Given the description of an element on the screen output the (x, y) to click on. 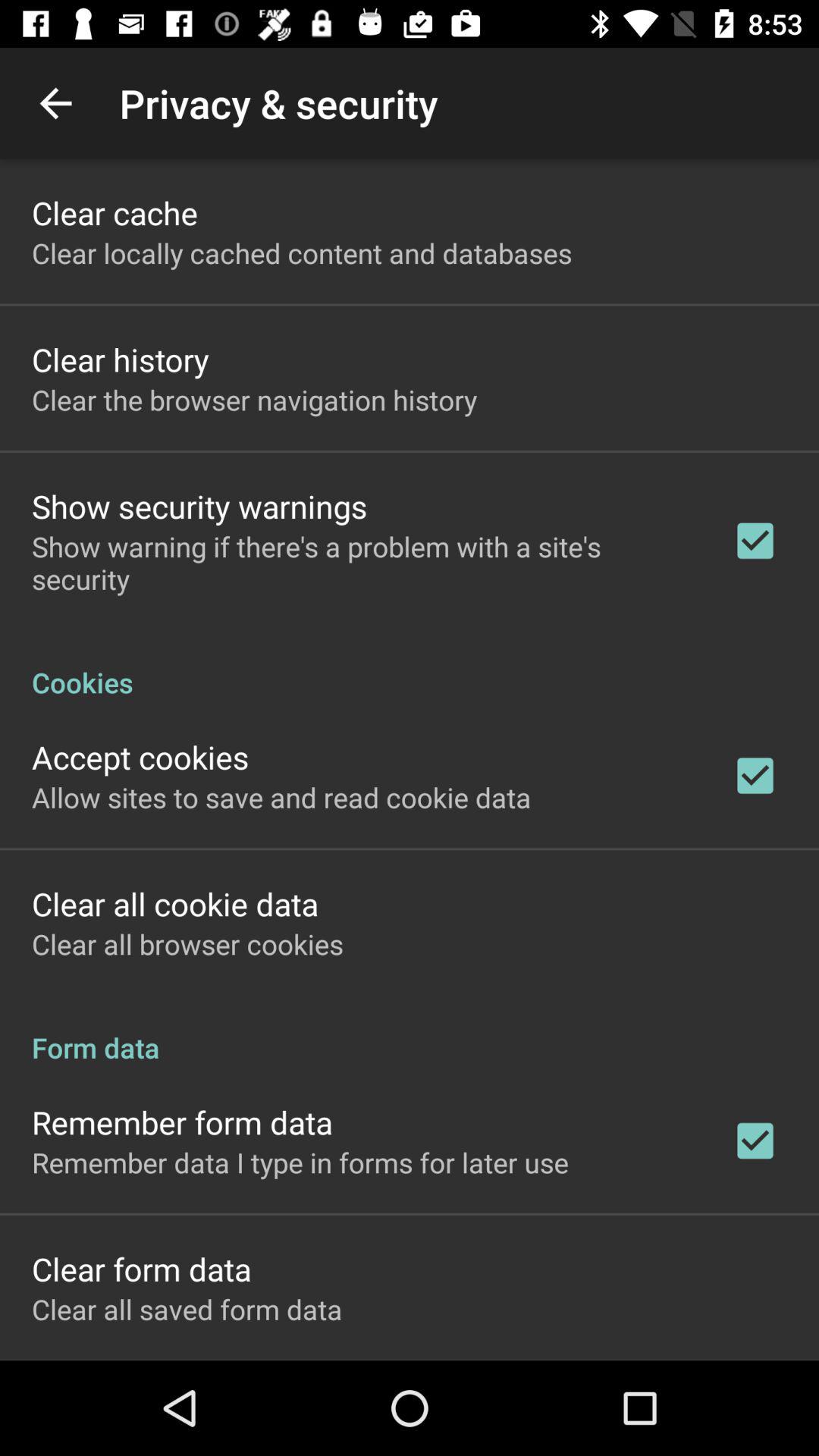
select item below the show security warnings item (361, 562)
